Given the description of an element on the screen output the (x, y) to click on. 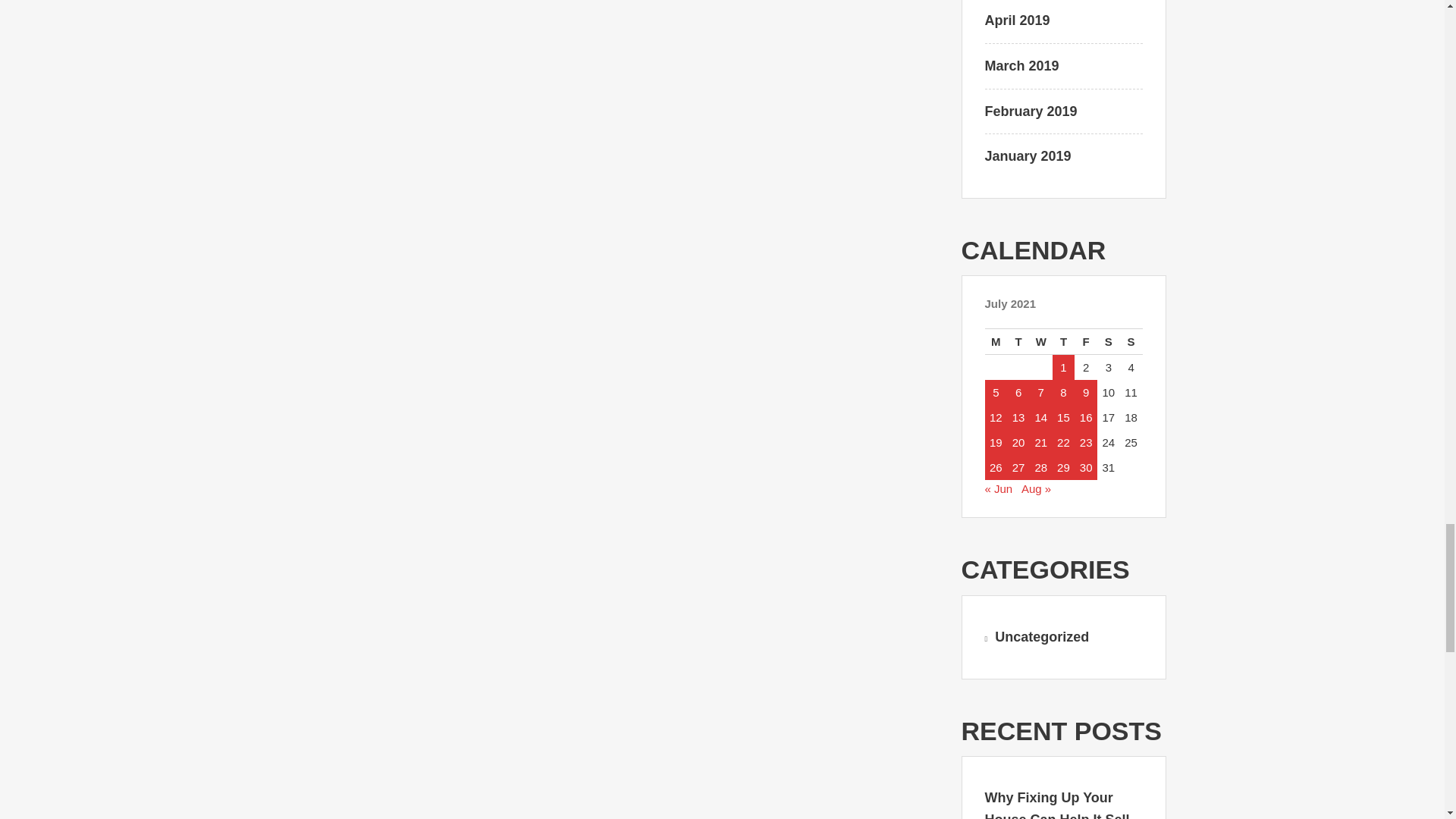
Monday (995, 341)
Wednesday (1040, 341)
Tuesday (1018, 341)
